Given the description of an element on the screen output the (x, y) to click on. 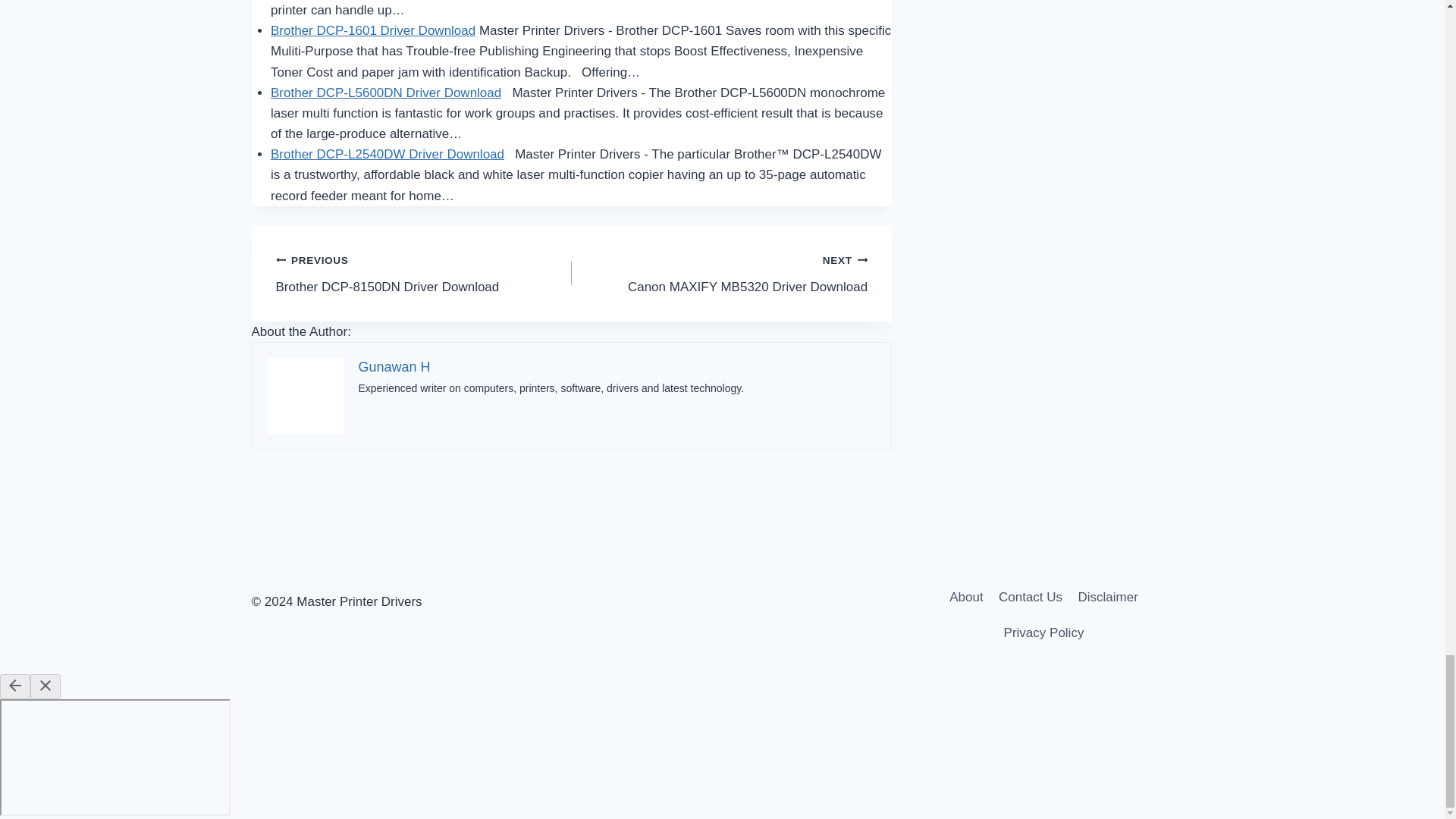
Brother DCP-L5600DN Driver Download (385, 92)
Brother DCP-1601 Driver Download (373, 30)
Gunawan H (393, 366)
Brother DCP-L2540DW Driver Download (424, 273)
